Given the description of an element on the screen output the (x, y) to click on. 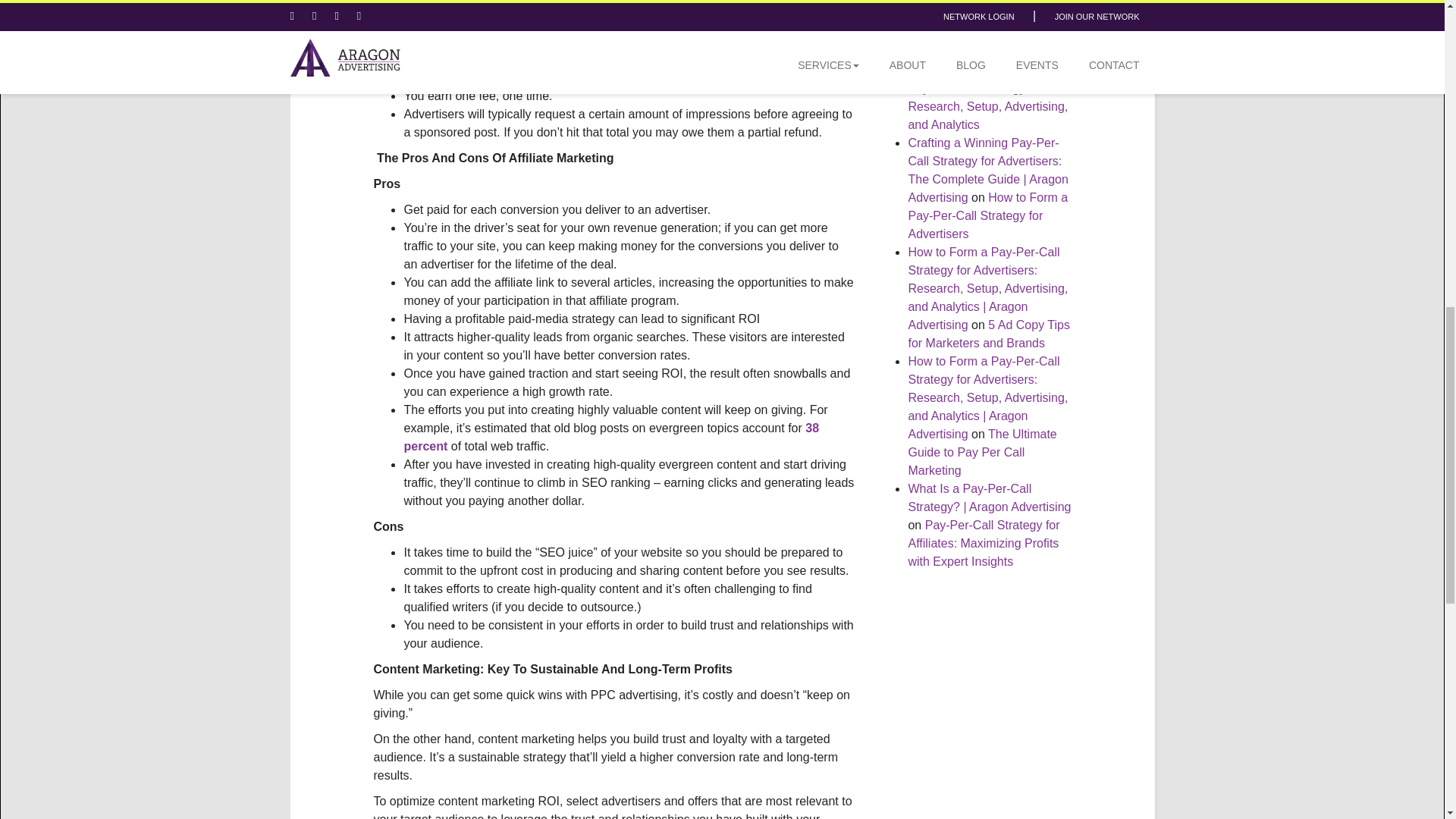
How to Form a Pay-Per-Call Strategy for Advertisers (987, 215)
38 percent (610, 436)
